Given the description of an element on the screen output the (x, y) to click on. 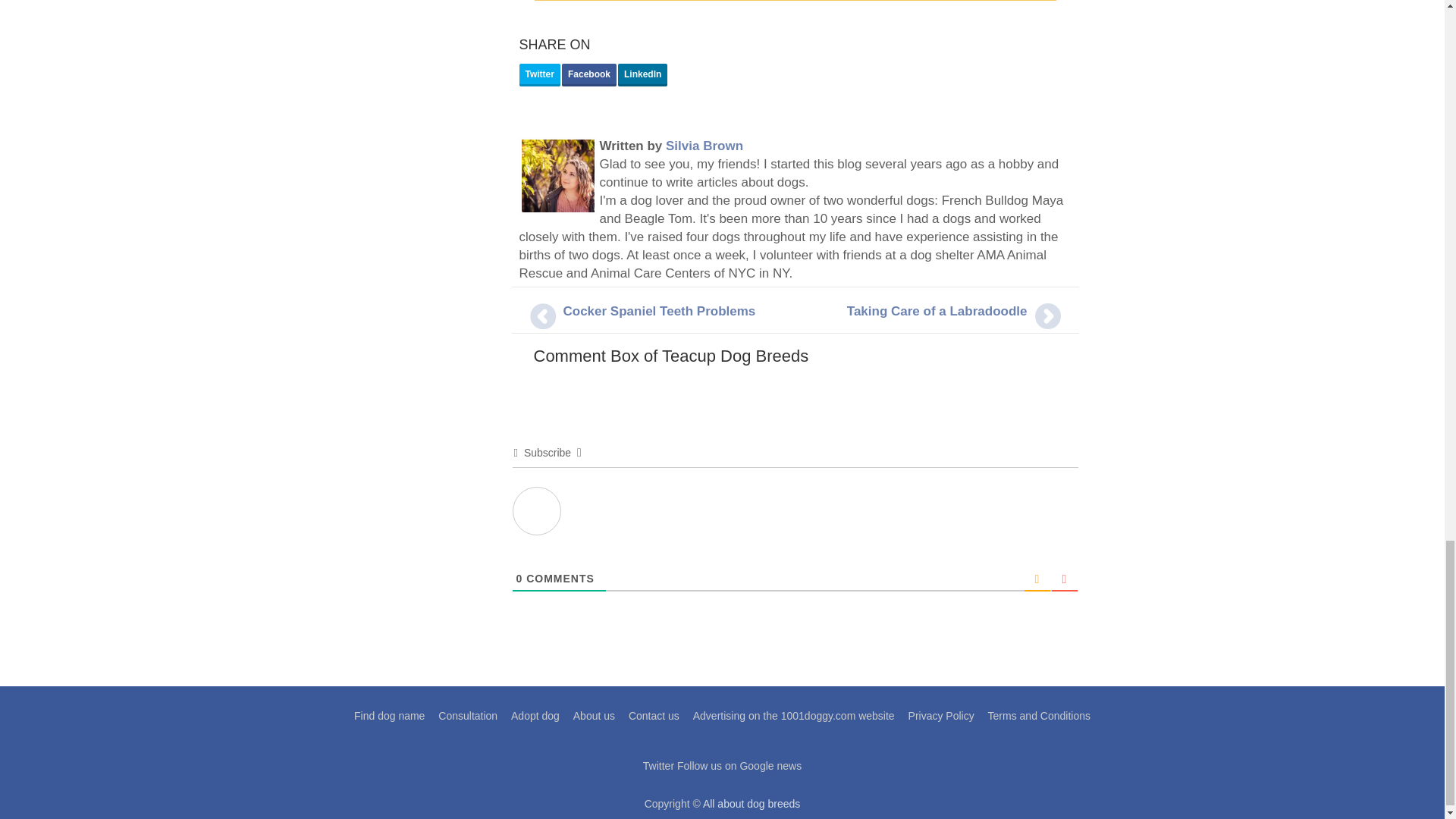
Twitter (538, 74)
Facebook (588, 74)
LinkedIn (641, 74)
Silvia Brown (703, 145)
Taking Care of a Labradoodle (937, 310)
Cocker Spaniel Teeth Problems (658, 310)
